Given the description of an element on the screen output the (x, y) to click on. 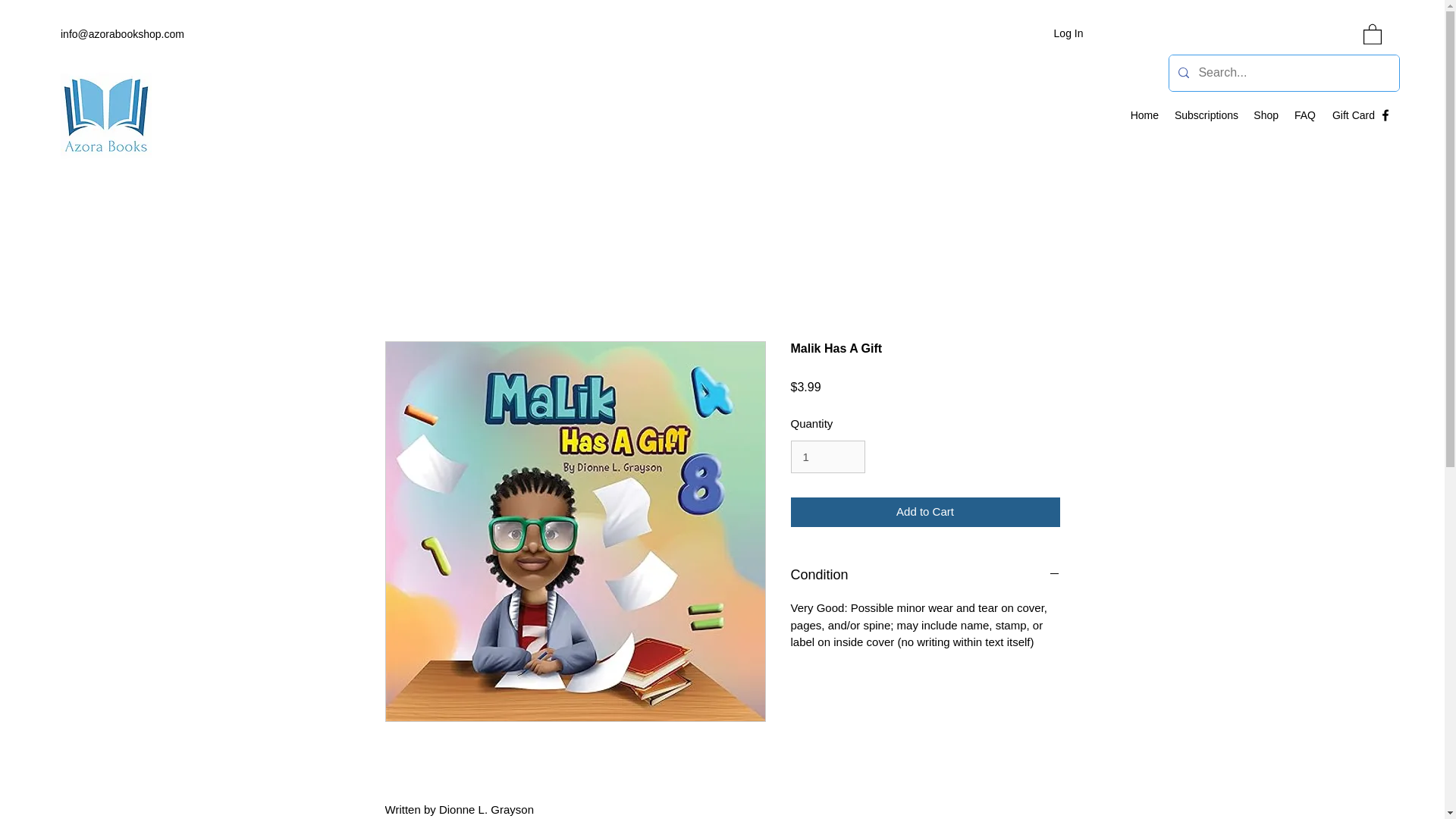
Add to Cart (924, 512)
Log In (1068, 33)
Shop (1265, 115)
Condition (924, 575)
1 (827, 457)
Home (1144, 115)
Gift Card (1352, 115)
FAQ (1304, 115)
Subscriptions (1206, 115)
